Given the description of an element on the screen output the (x, y) to click on. 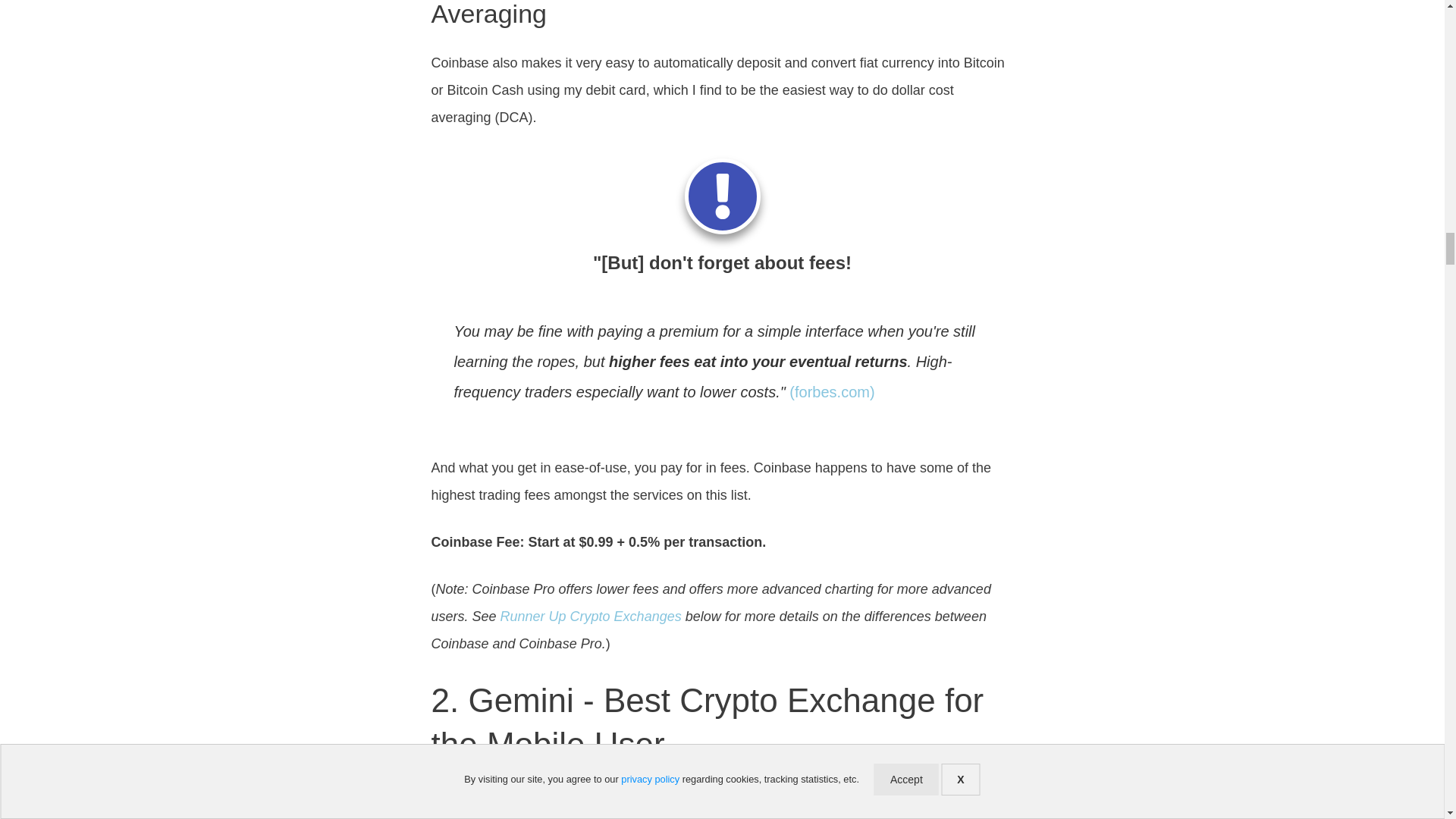
Runner Up Crypto Exchanges (590, 616)
